Given the description of an element on the screen output the (x, y) to click on. 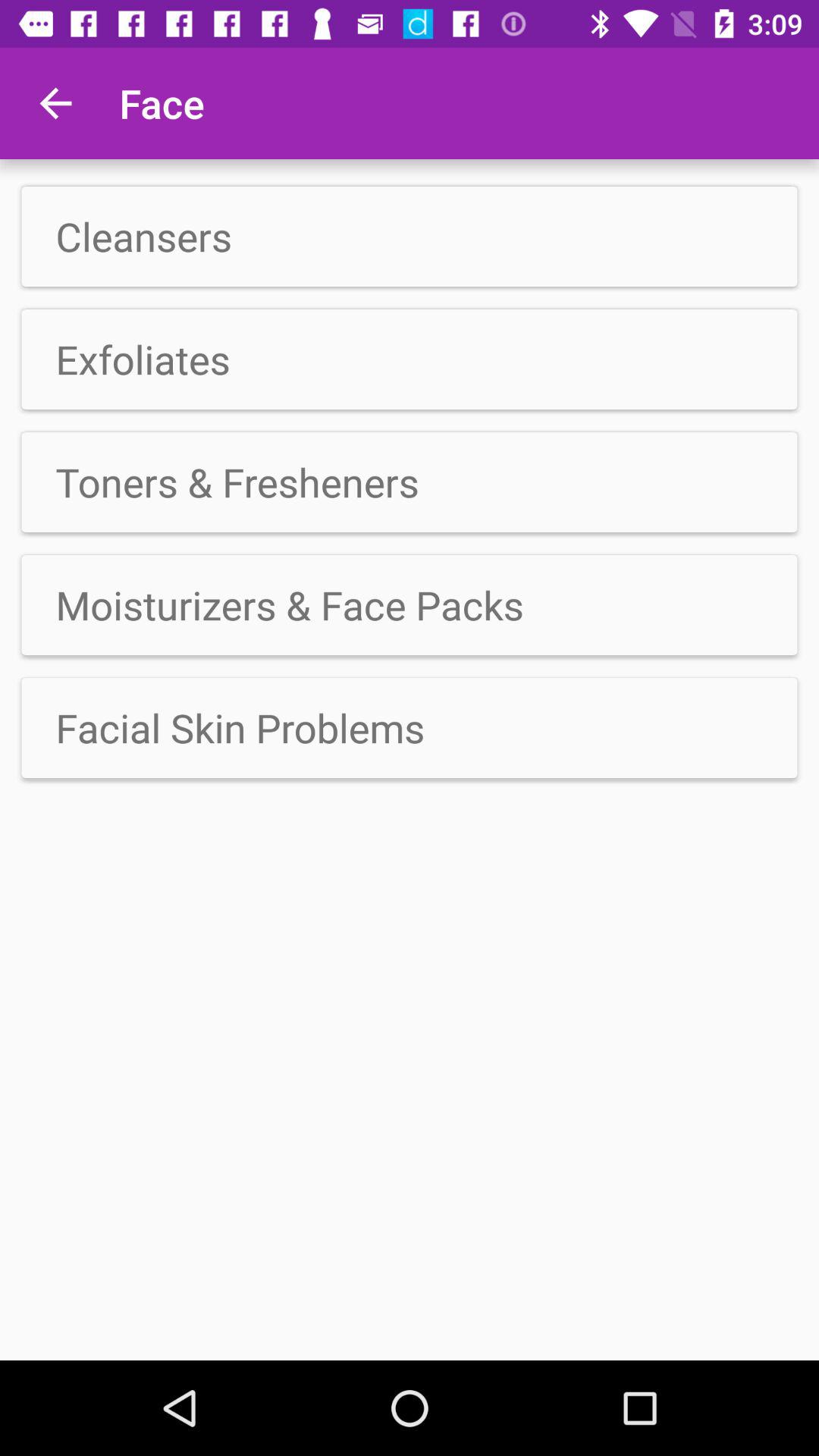
launch facial skin problems app (409, 727)
